Given the description of an element on the screen output the (x, y) to click on. 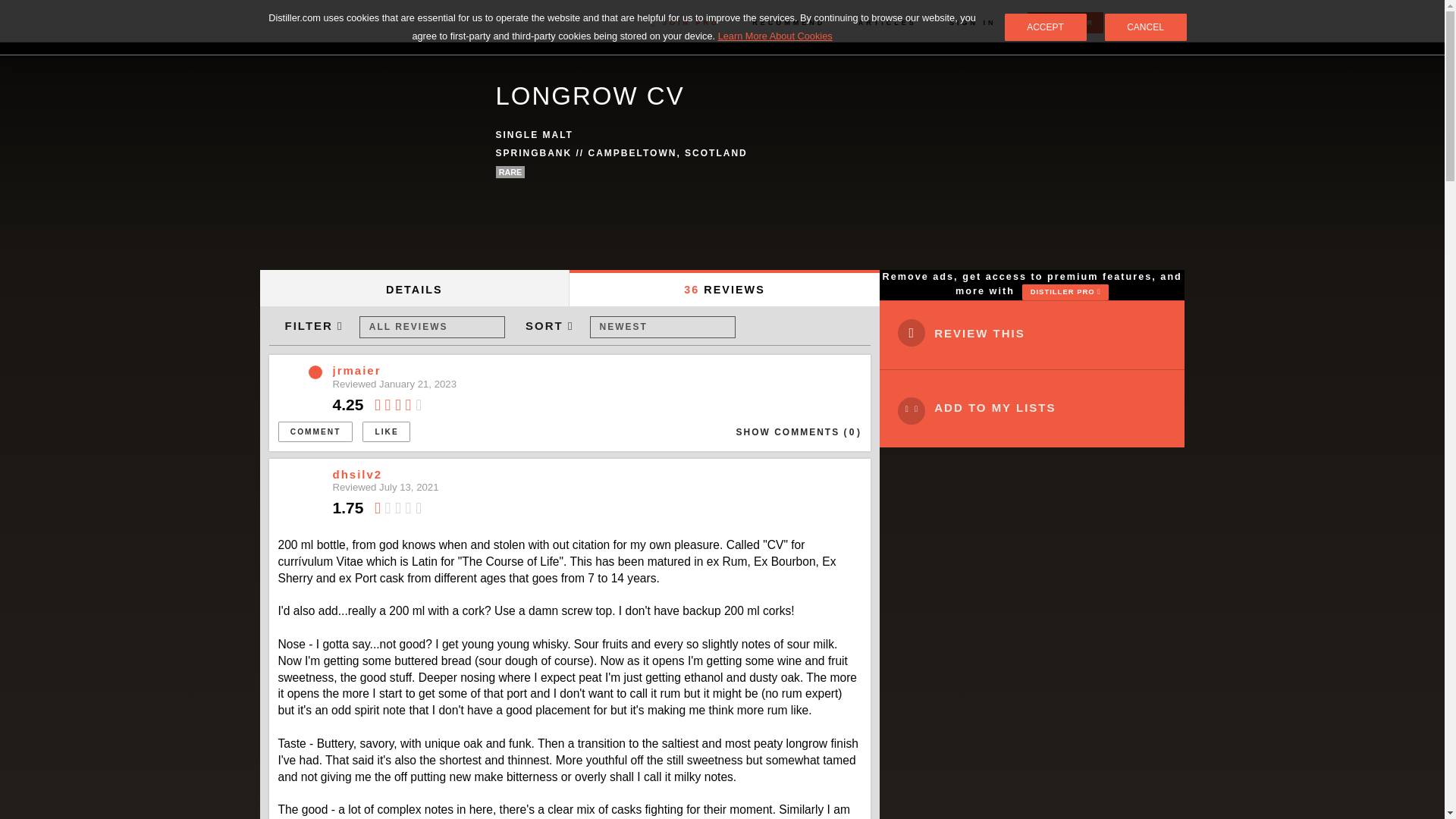
Learn More About Cookies (774, 35)
RECOMMEND (789, 22)
JOIN PRO (684, 22)
ARTICLES (887, 22)
CANCEL (1144, 26)
ACCEPT (1045, 26)
REGISTER (1065, 22)
SIGN IN (972, 22)
